Given the description of an element on the screen output the (x, y) to click on. 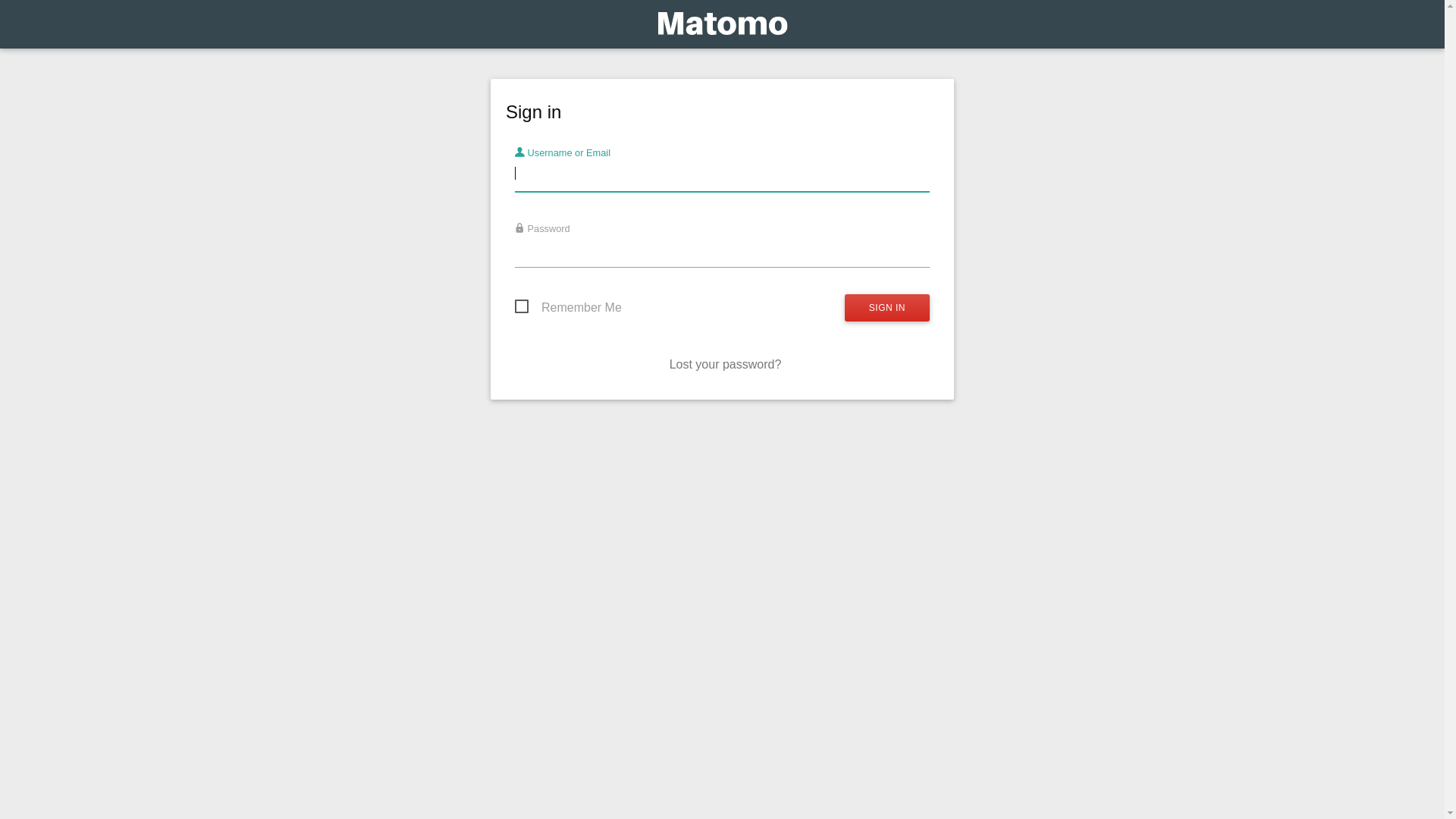
Lost your password? Element type: text (725, 363)
Web analytics Element type: hover (722, 23)
Sign in Element type: text (886, 307)
Web analytics Element type: hover (722, 27)
